Given the description of an element on the screen output the (x, y) to click on. 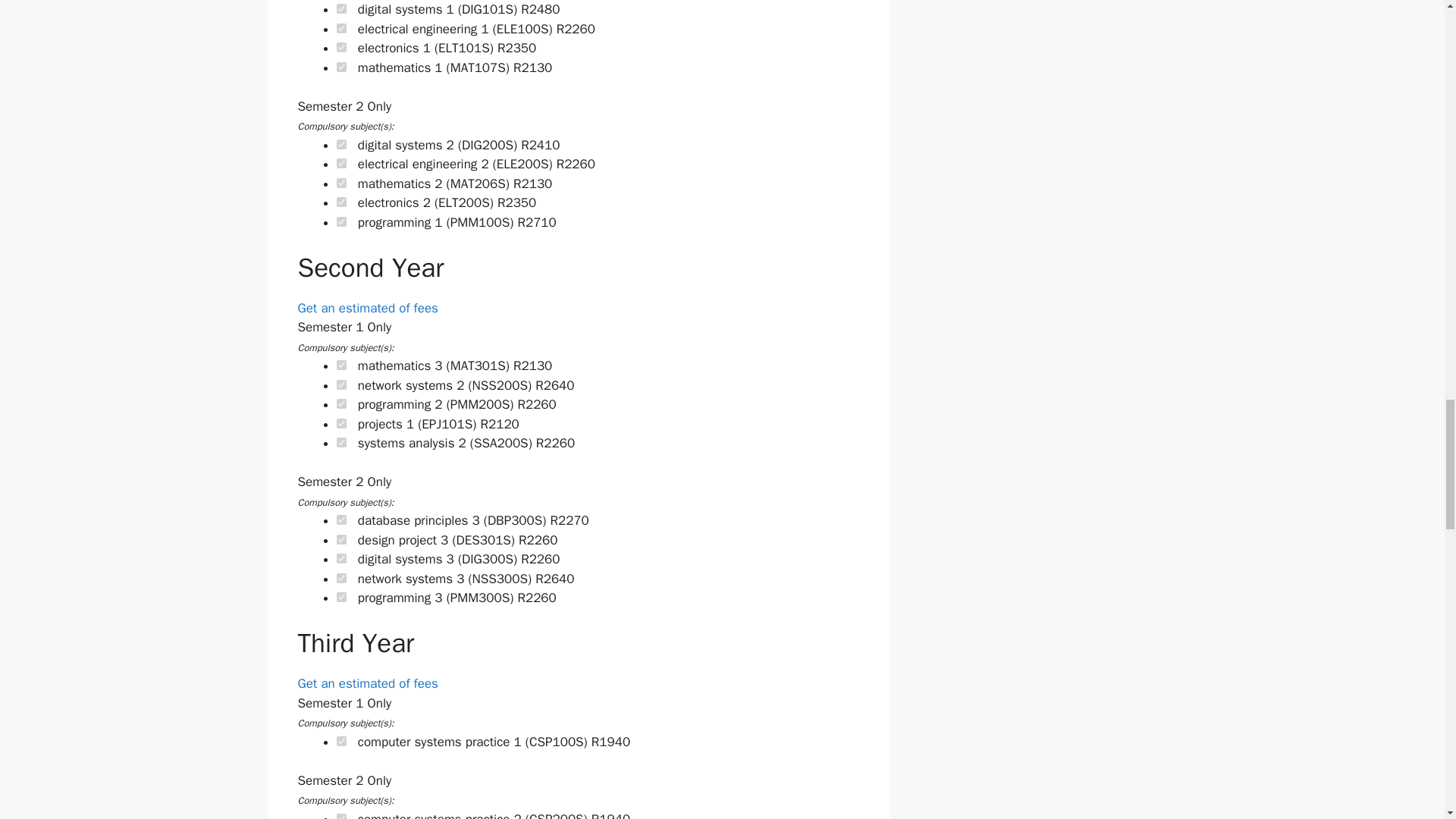
This cost is in South African Rands. (540, 9)
2260 (341, 403)
2260 (341, 539)
2130 (341, 365)
2260 (341, 28)
2260 (341, 442)
2260 (341, 163)
Get an estimated of fees (367, 308)
